Given the description of an element on the screen output the (x, y) to click on. 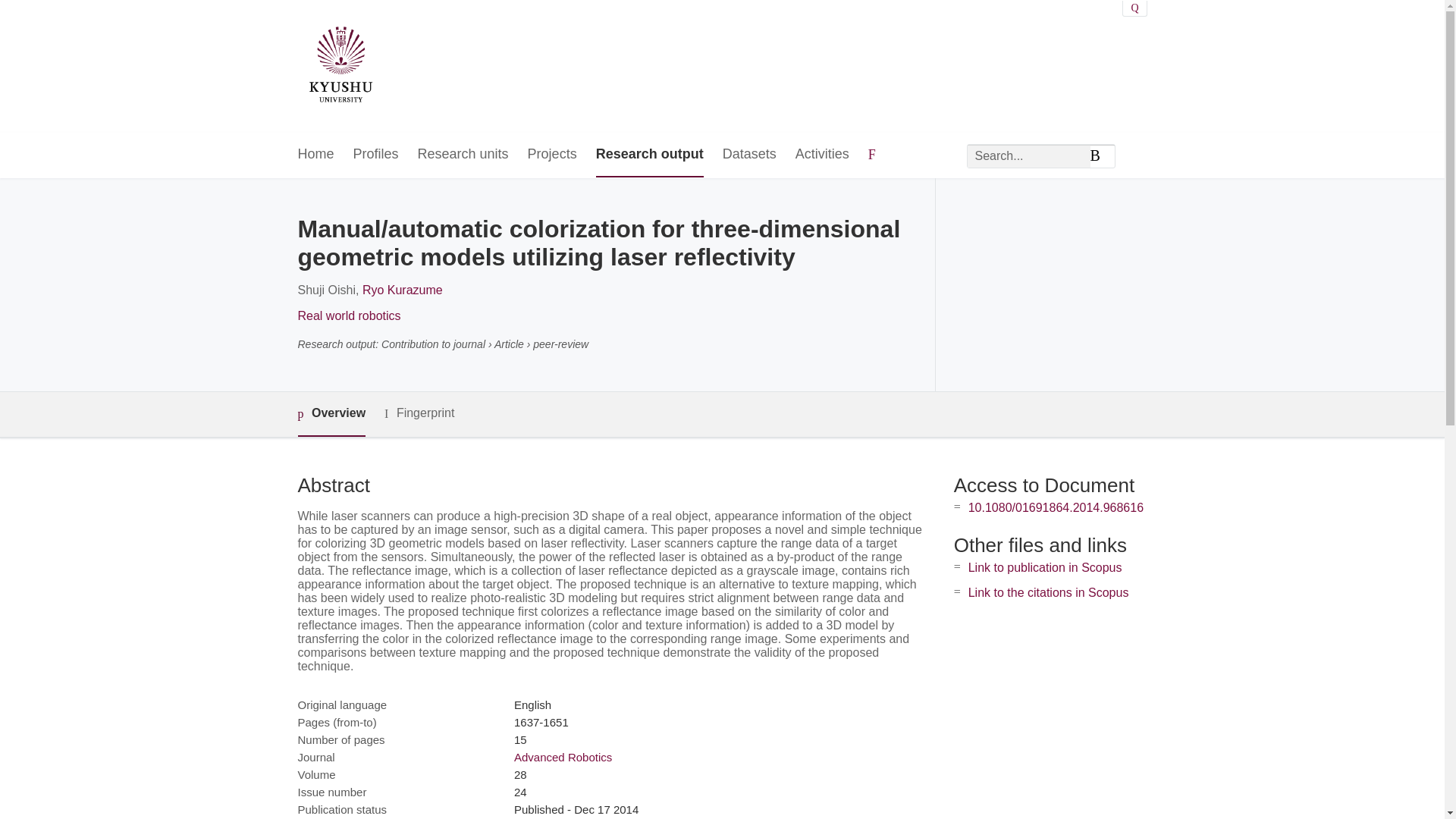
Fingerprint (419, 413)
Research units (462, 154)
Link to publication in Scopus (1045, 567)
Real world robotics (348, 315)
Projects (551, 154)
Profiles (375, 154)
Overview (331, 414)
Activities (821, 154)
Link to the citations in Scopus (1048, 592)
Ryo Kurazume (402, 289)
Datasets (749, 154)
Advanced Robotics (562, 757)
Research output (649, 154)
